Given the description of an element on the screen output the (x, y) to click on. 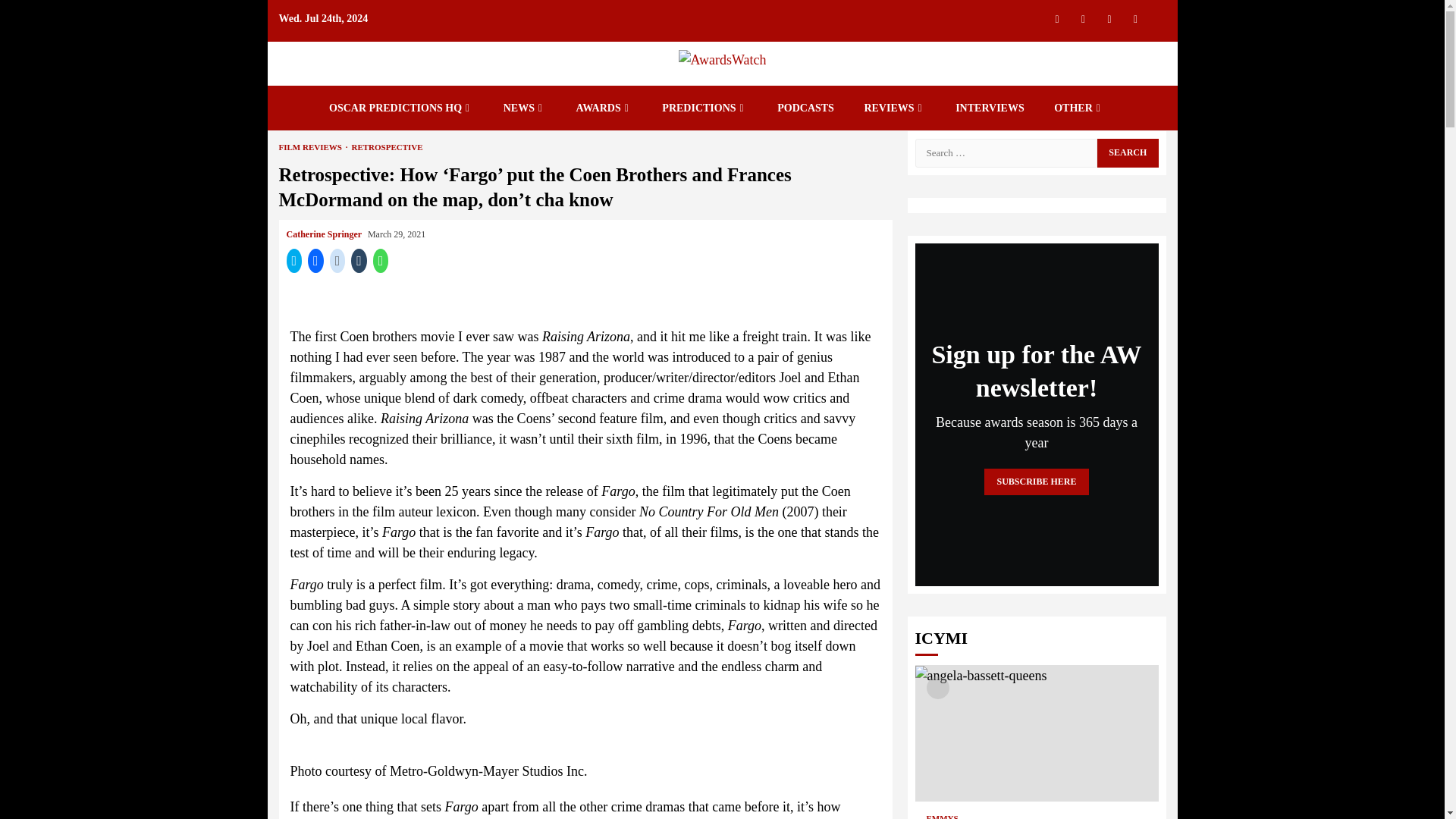
OTHER (1078, 107)
Instagram (1082, 18)
Search (1126, 44)
YouTube (1135, 18)
Facebook (1109, 18)
INTERVIEWS (990, 107)
Twitter (1056, 18)
AWARDS (603, 107)
PREDICTIONS (704, 107)
NEWS (524, 107)
OSCAR PREDICTIONS HQ (401, 107)
Search (1127, 152)
PODCASTS (805, 107)
REVIEWS (893, 107)
Search (1127, 152)
